Given the description of an element on the screen output the (x, y) to click on. 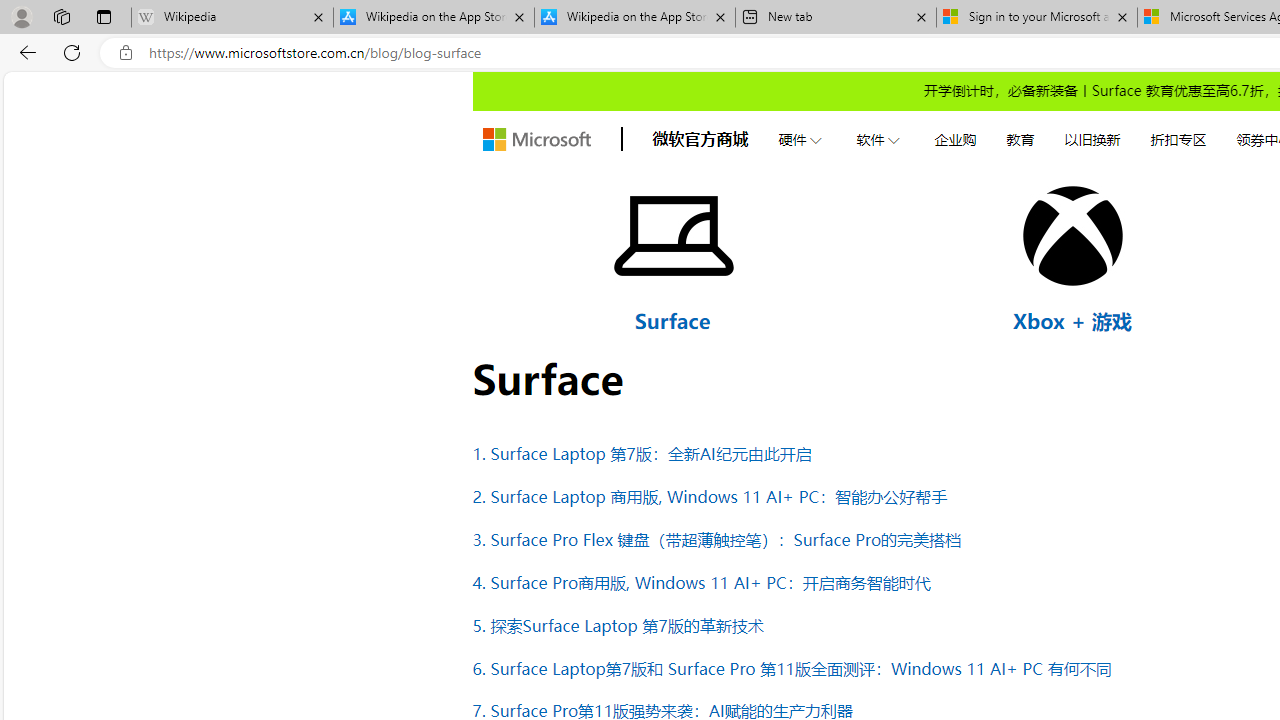
Back (24, 52)
Surface (671, 320)
Microsoft (536, 139)
Close tab (1122, 16)
New tab (835, 17)
Wikipedia - Sleeping (231, 17)
